Given the description of an element on the screen output the (x, y) to click on. 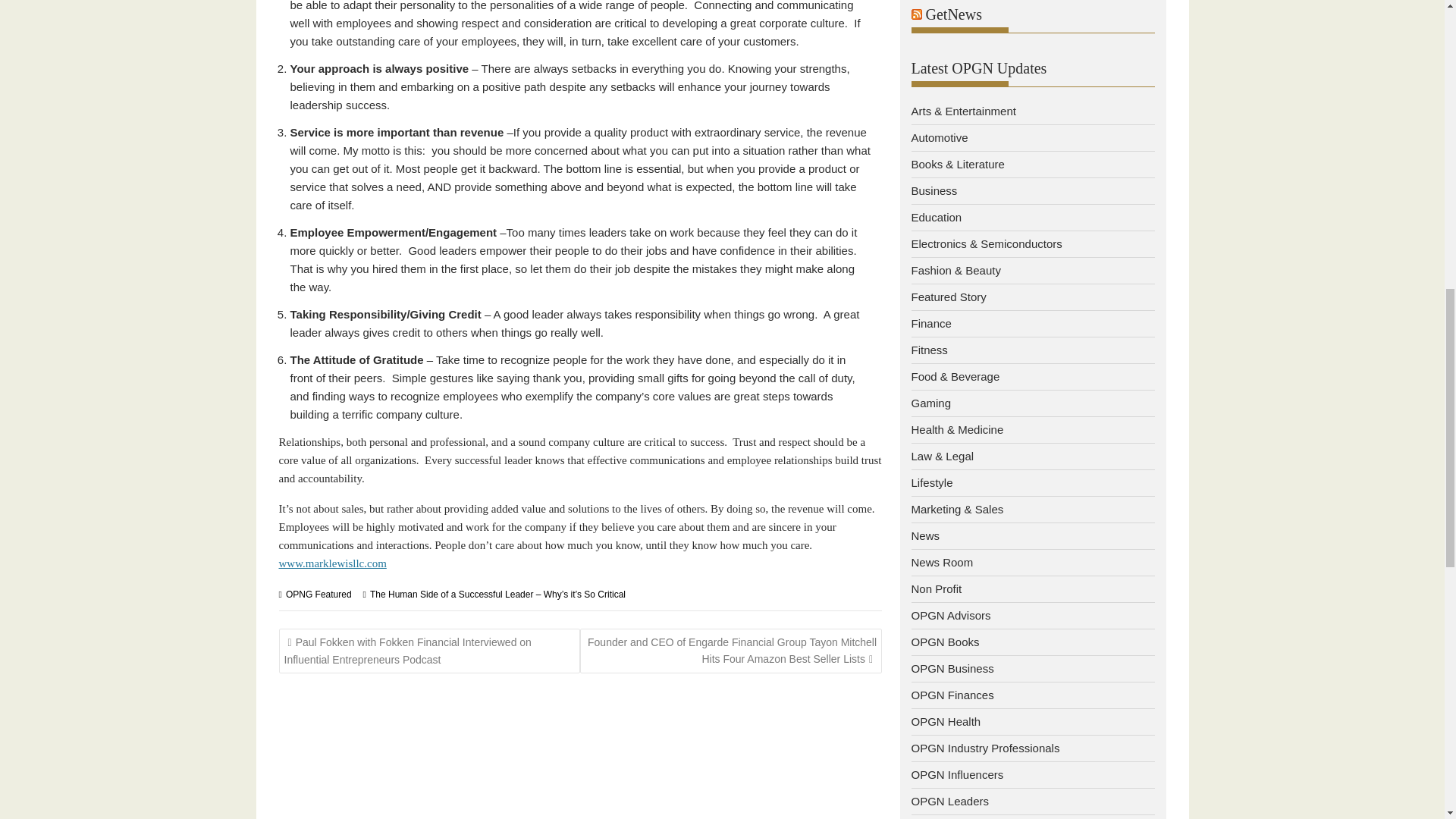
OPNG Featured (318, 593)
www.marklewisllc.com (333, 563)
